Given the description of an element on the screen output the (x, y) to click on. 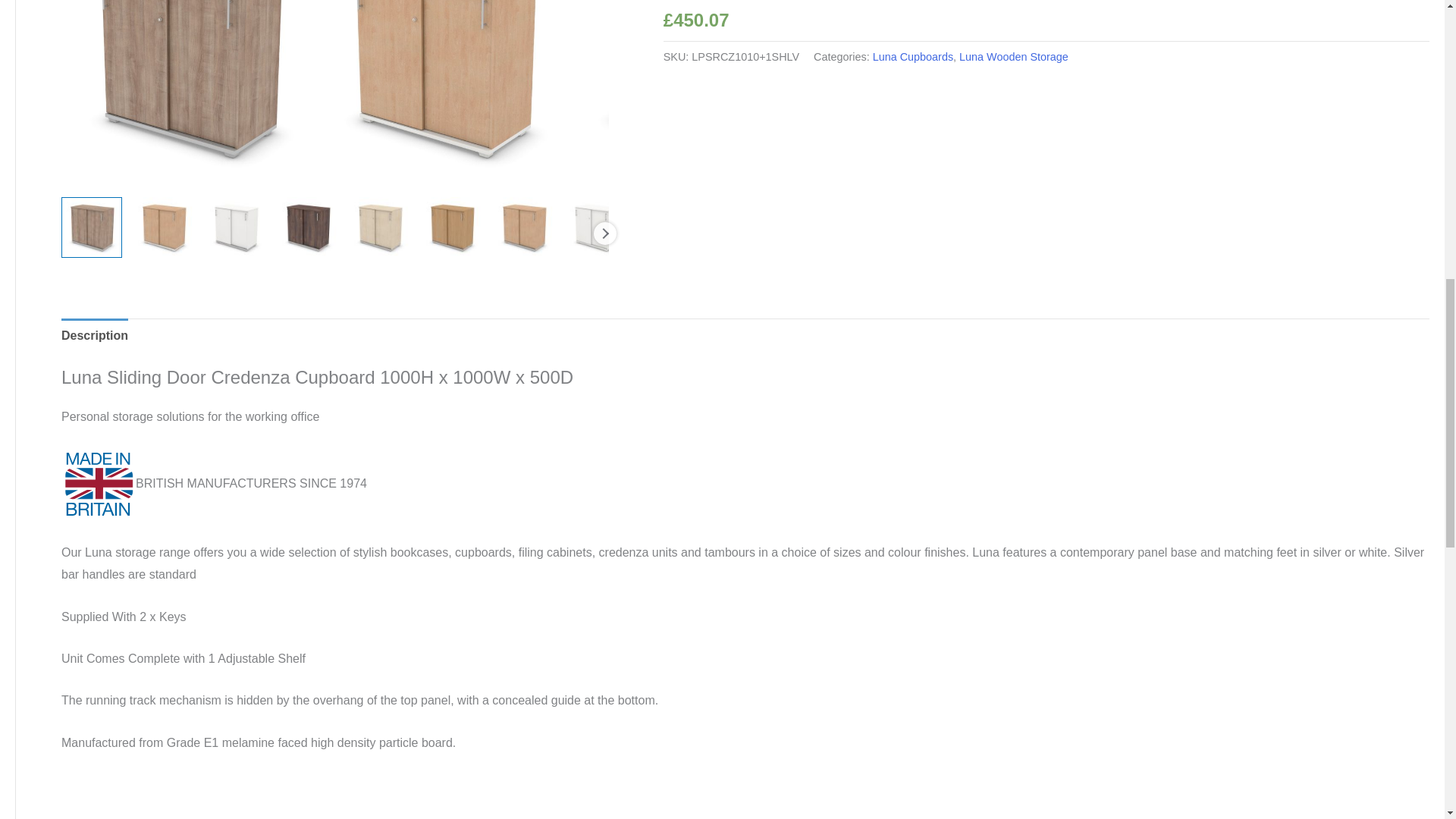
Next (604, 232)
